Given the description of an element on the screen output the (x, y) to click on. 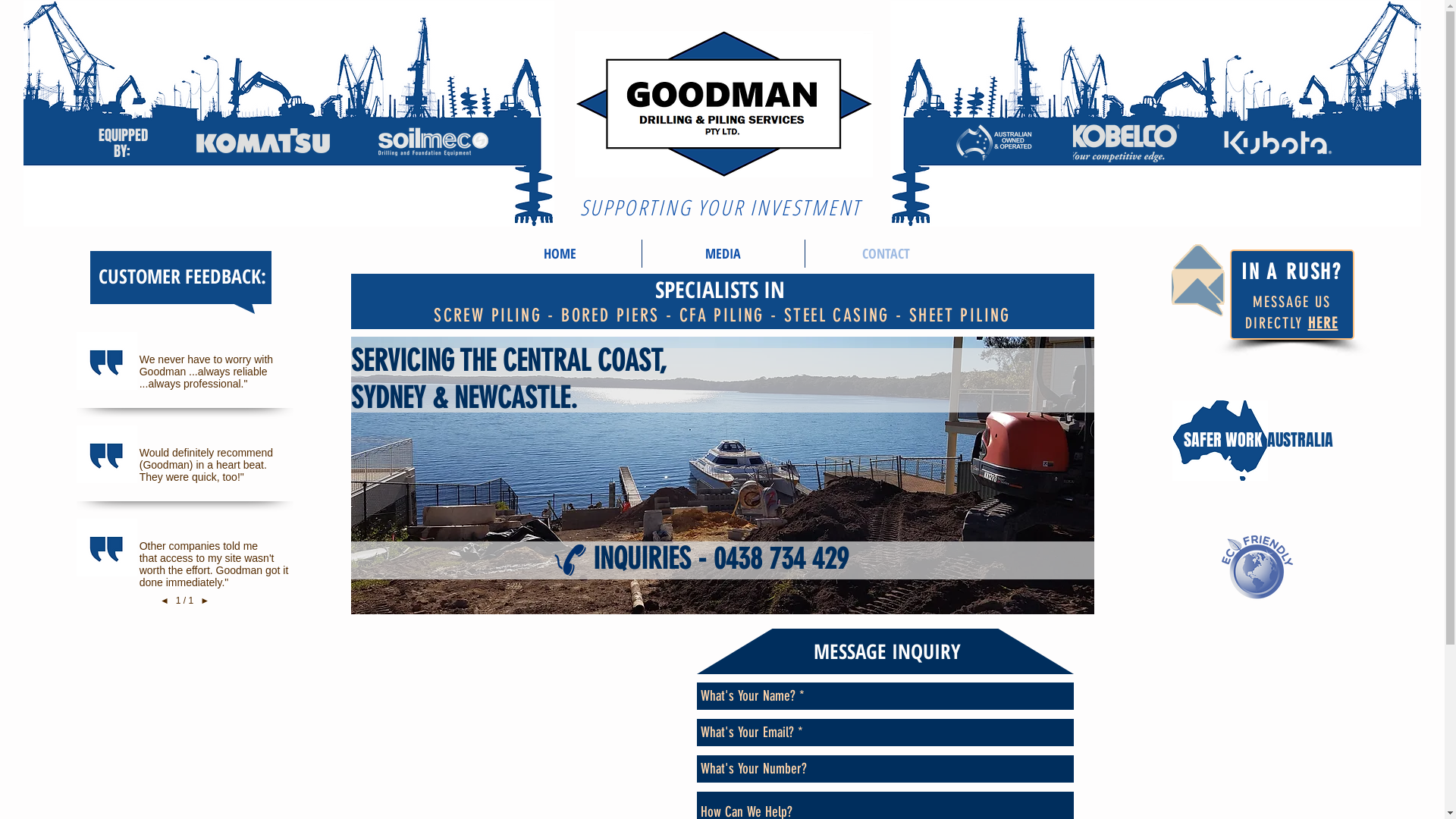
Blue Quotation Marks.png Element type: hover (105, 547)
MEDIA Element type: text (722, 253)
CONTACT Element type: text (885, 253)
Blue Quotation Marks.png Element type: hover (105, 361)
HERE Element type: text (1322, 322)
Blue Quotation Marks.png Element type: hover (105, 454)
HOME Element type: text (558, 253)
